Given the description of an element on the screen output the (x, y) to click on. 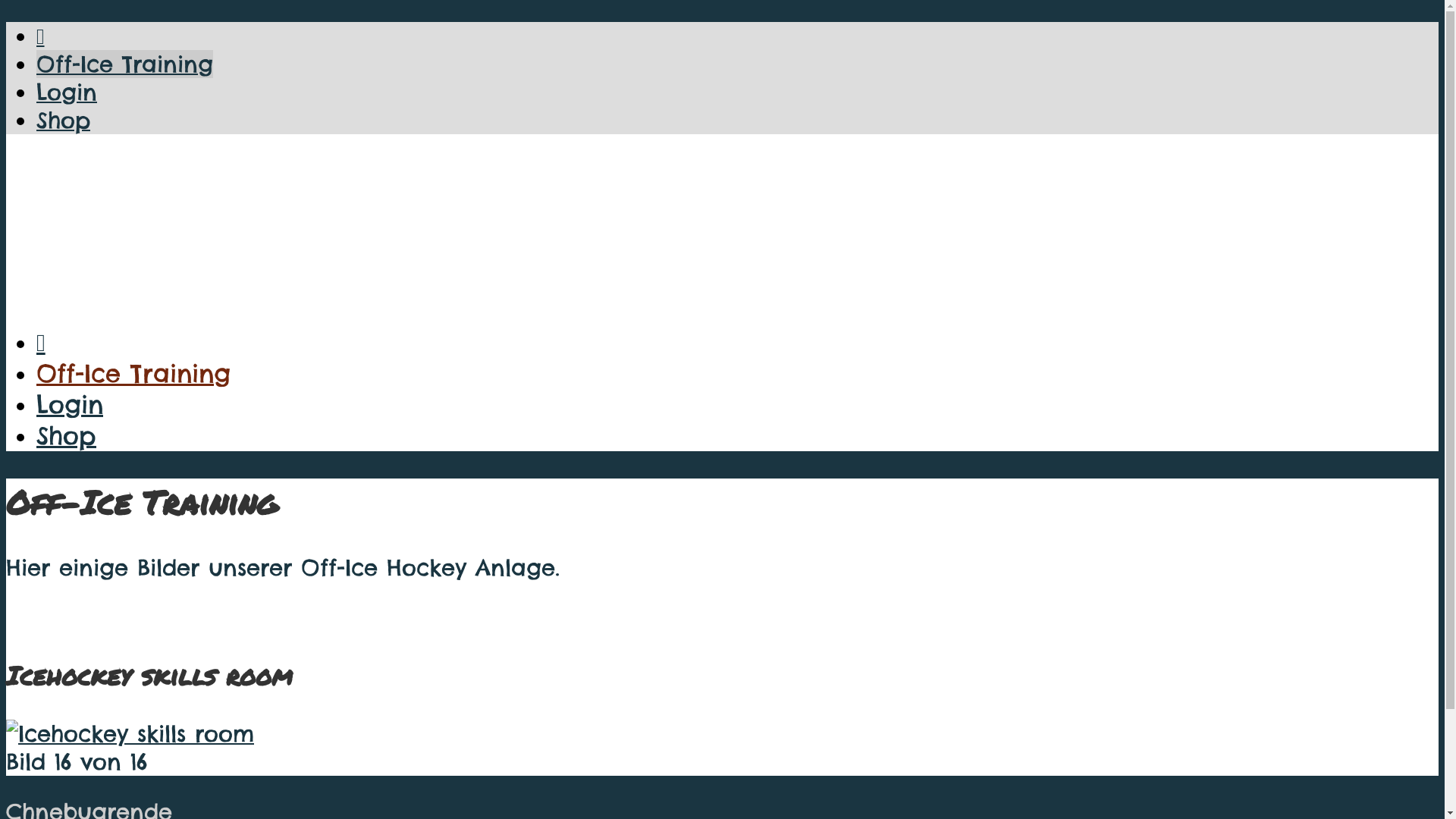
Login Element type: text (66, 92)
Shop Element type: text (66, 435)
  Element type: hover (130, 733)
Off-Ice Training Element type: text (133, 373)
Login Element type: text (69, 404)
Off-Ice Training Element type: text (124, 64)
Shop Element type: text (63, 120)
